Given the description of an element on the screen output the (x, y) to click on. 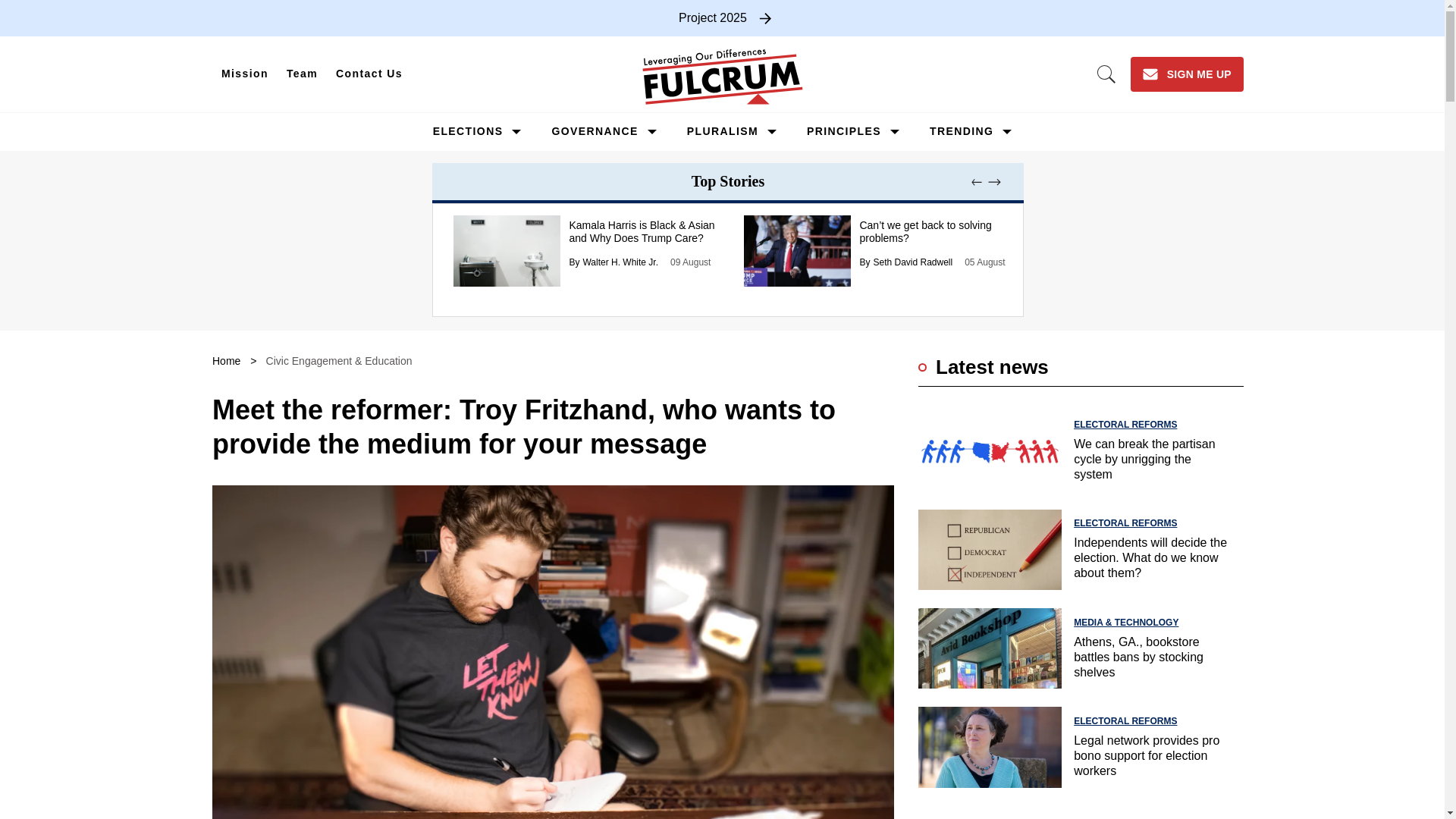
Open Search (1106, 74)
ELECTIONS (467, 131)
GOVERNANCE (594, 131)
Open Search (1106, 74)
Contact Us (369, 73)
SIGN ME UP (1187, 73)
Team (302, 73)
Mission (245, 73)
